Given the description of an element on the screen output the (x, y) to click on. 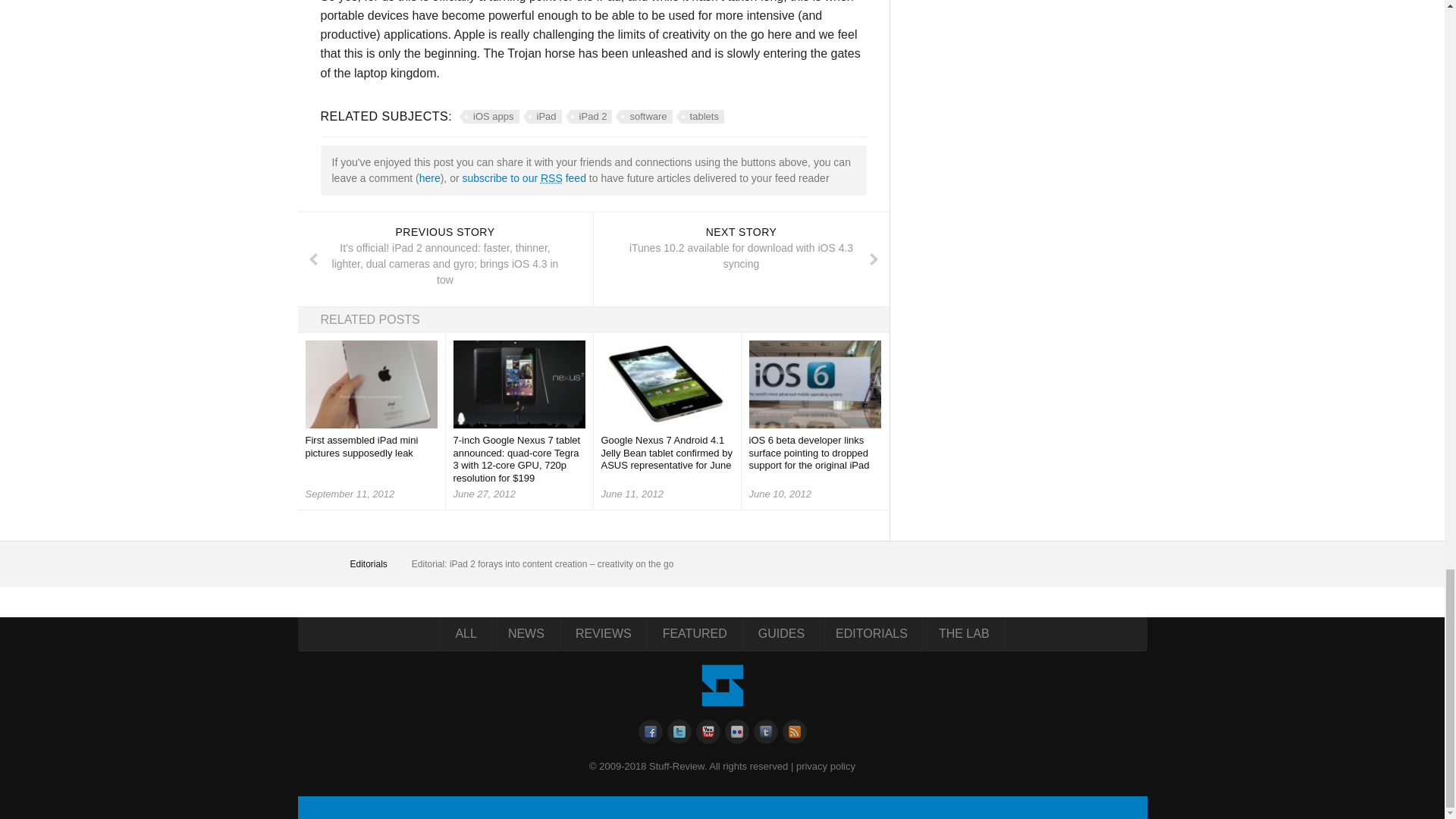
here (430, 177)
Syndicate this site using RSS (523, 177)
software (643, 116)
iPad (542, 116)
iPad 2 (589, 116)
tablets (700, 116)
iOS apps (489, 116)
subscribe to our RSS feed (523, 177)
